Given the description of an element on the screen output the (x, y) to click on. 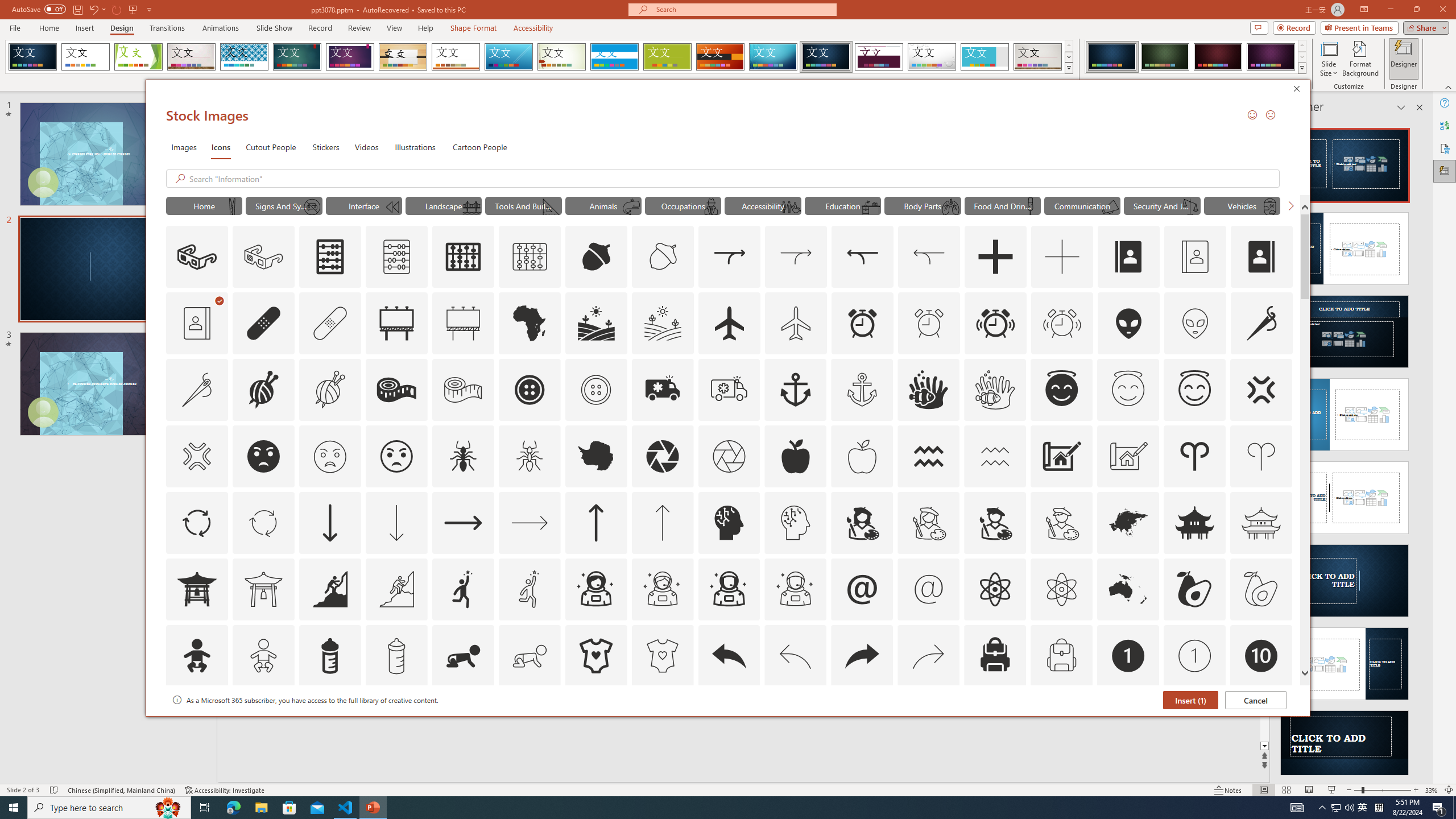
Videos (366, 146)
AutomationID: Icons_Badge6 (795, 721)
"Signs And Symbols" Icons. (283, 205)
Thumbnail (1283, 699)
AutomationID: Icons_AlarmClock_M (928, 323)
AutomationID: Icons_BabyOnesie (595, 655)
AutomationID: Icons_Peg_M (231, 206)
AutomationID: Icons_Back_RTL (861, 655)
AutomationID: Icons_Badge8 (1061, 721)
